Given the description of an element on the screen output the (x, y) to click on. 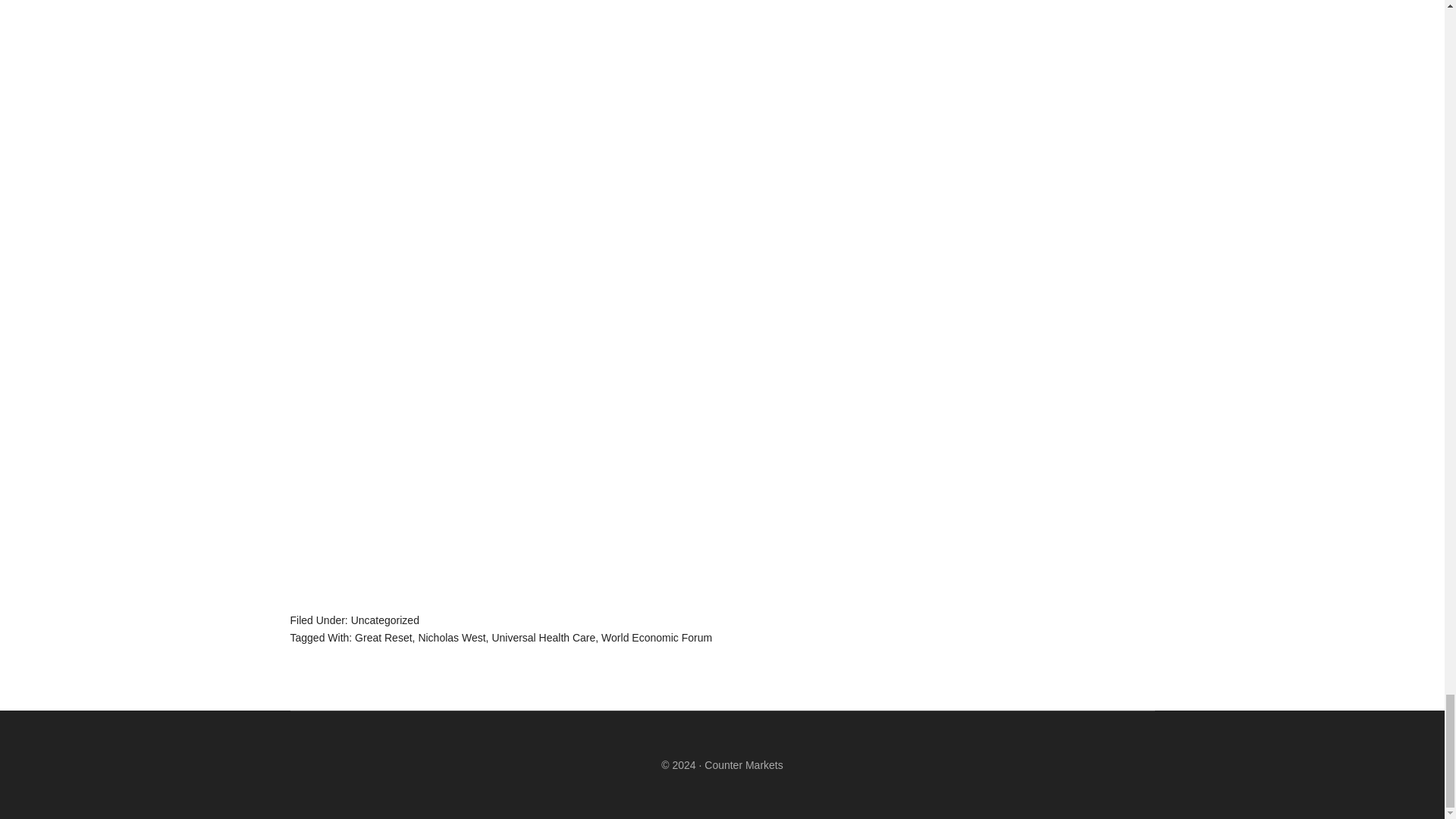
Great Reset (383, 637)
Uncategorized (384, 620)
Universal Health Care (543, 637)
World Economic Forum (656, 637)
Nicholas West (450, 637)
